Given the description of an element on the screen output the (x, y) to click on. 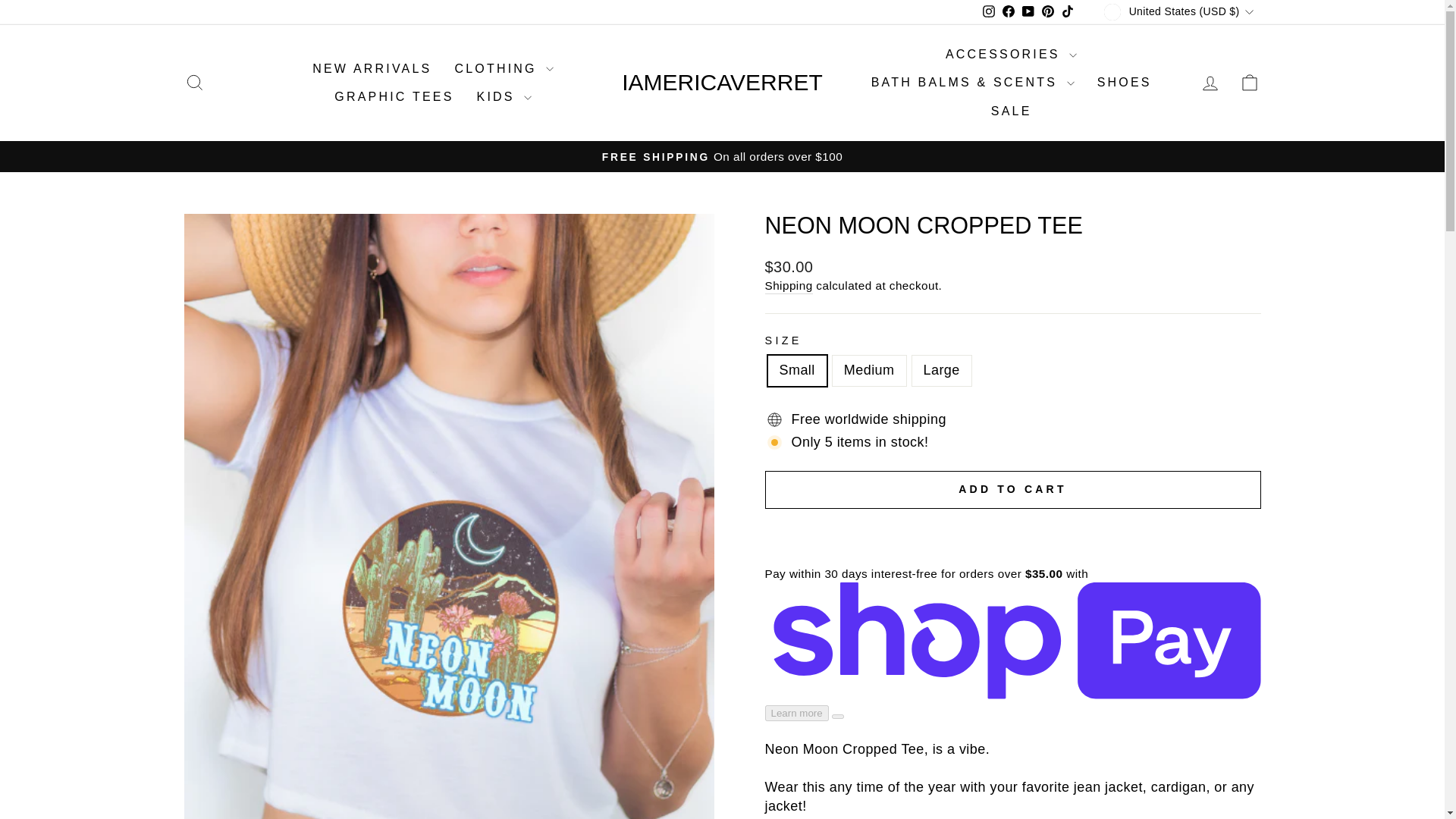
ACCOUNT (1210, 83)
ICON-BAG-MINIMAL (1249, 82)
instagram (988, 10)
ICON-SEARCH (194, 82)
